Given the description of an element on the screen output the (x, y) to click on. 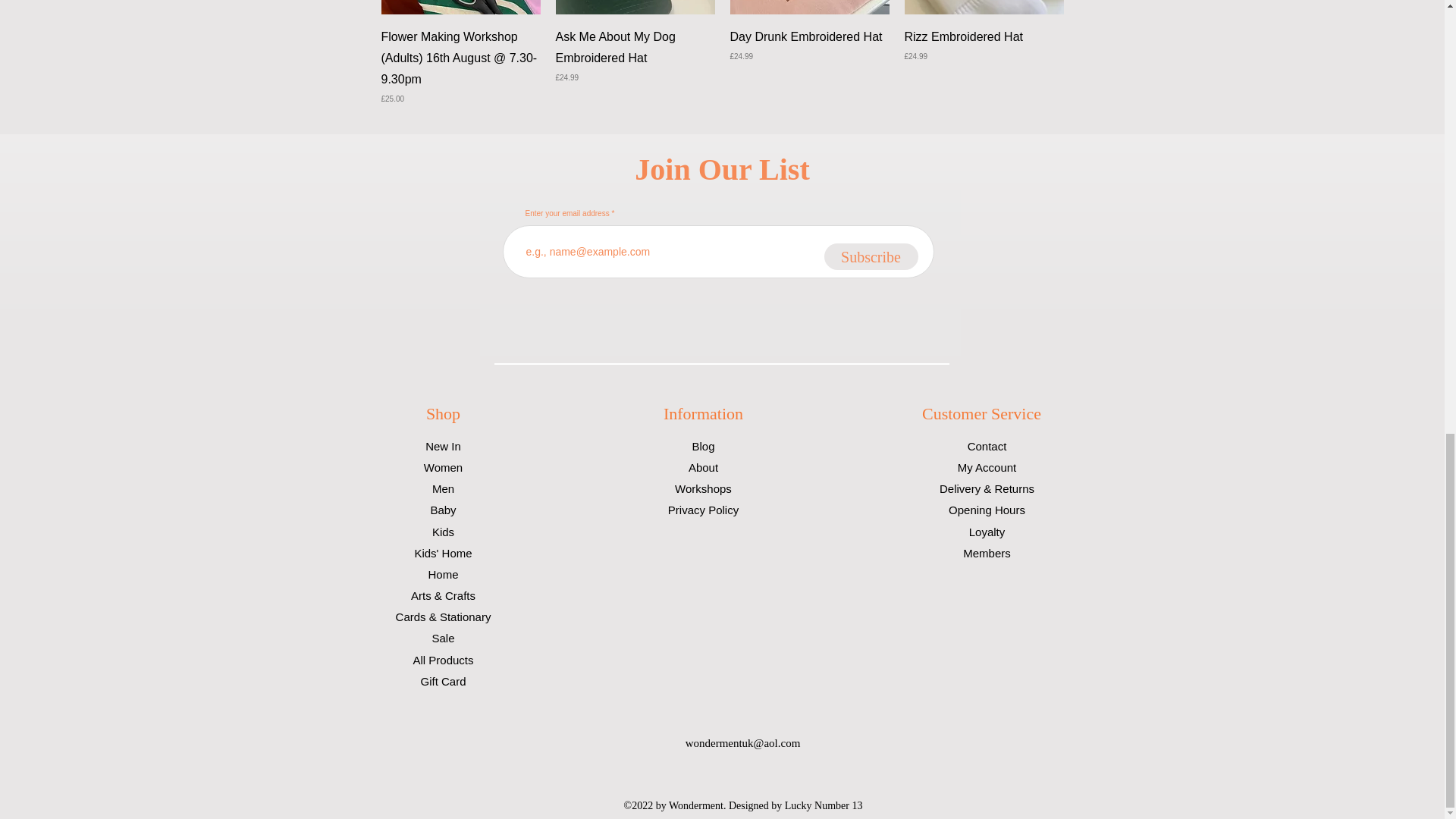
New Arrival (634, 7)
